Given the description of an element on the screen output the (x, y) to click on. 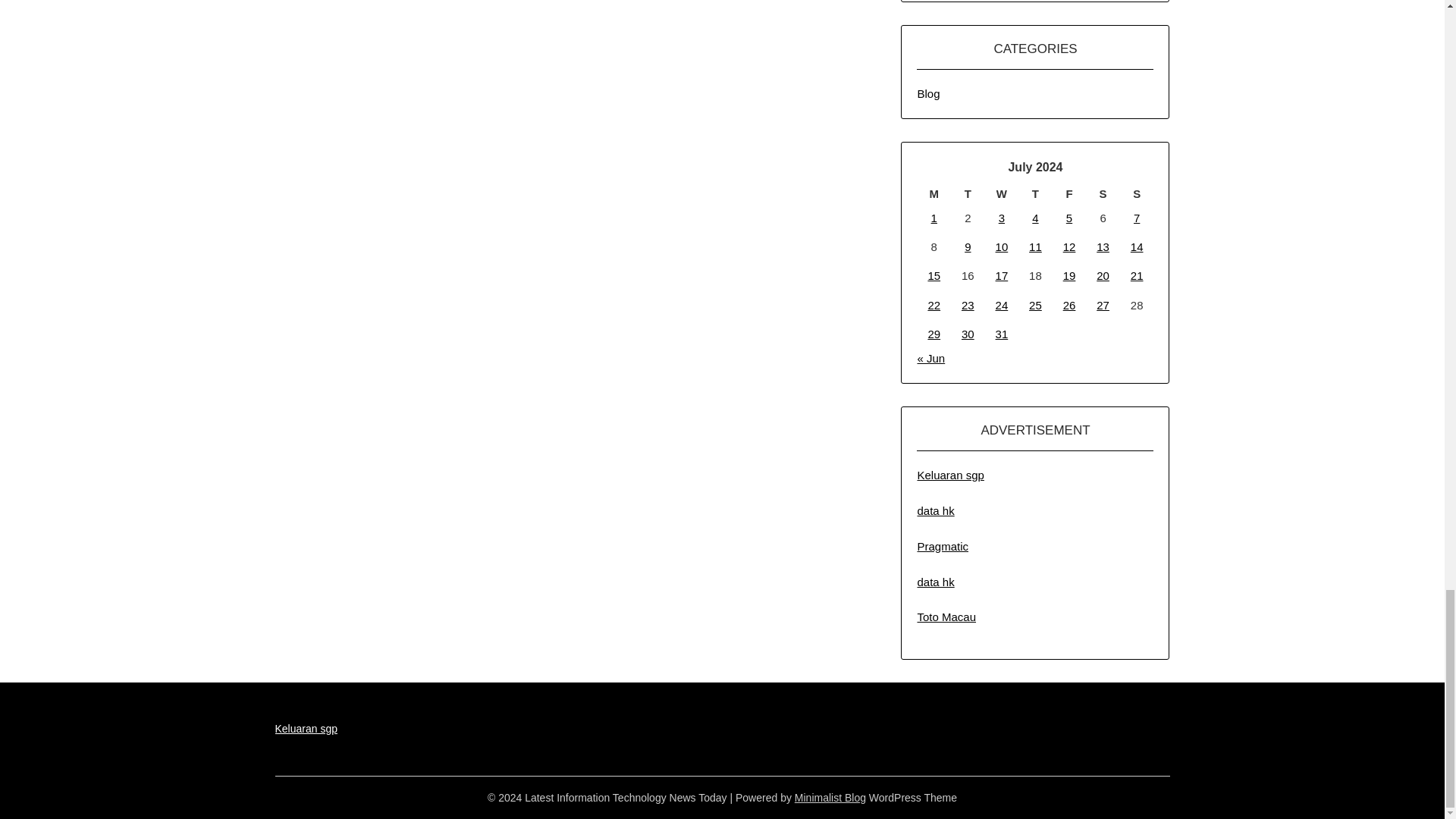
Monday (933, 194)
Saturday (1102, 194)
Sunday (1136, 194)
Friday (1069, 194)
Wednesday (1002, 194)
Tuesday (967, 194)
Thursday (1034, 194)
